Given the description of an element on the screen output the (x, y) to click on. 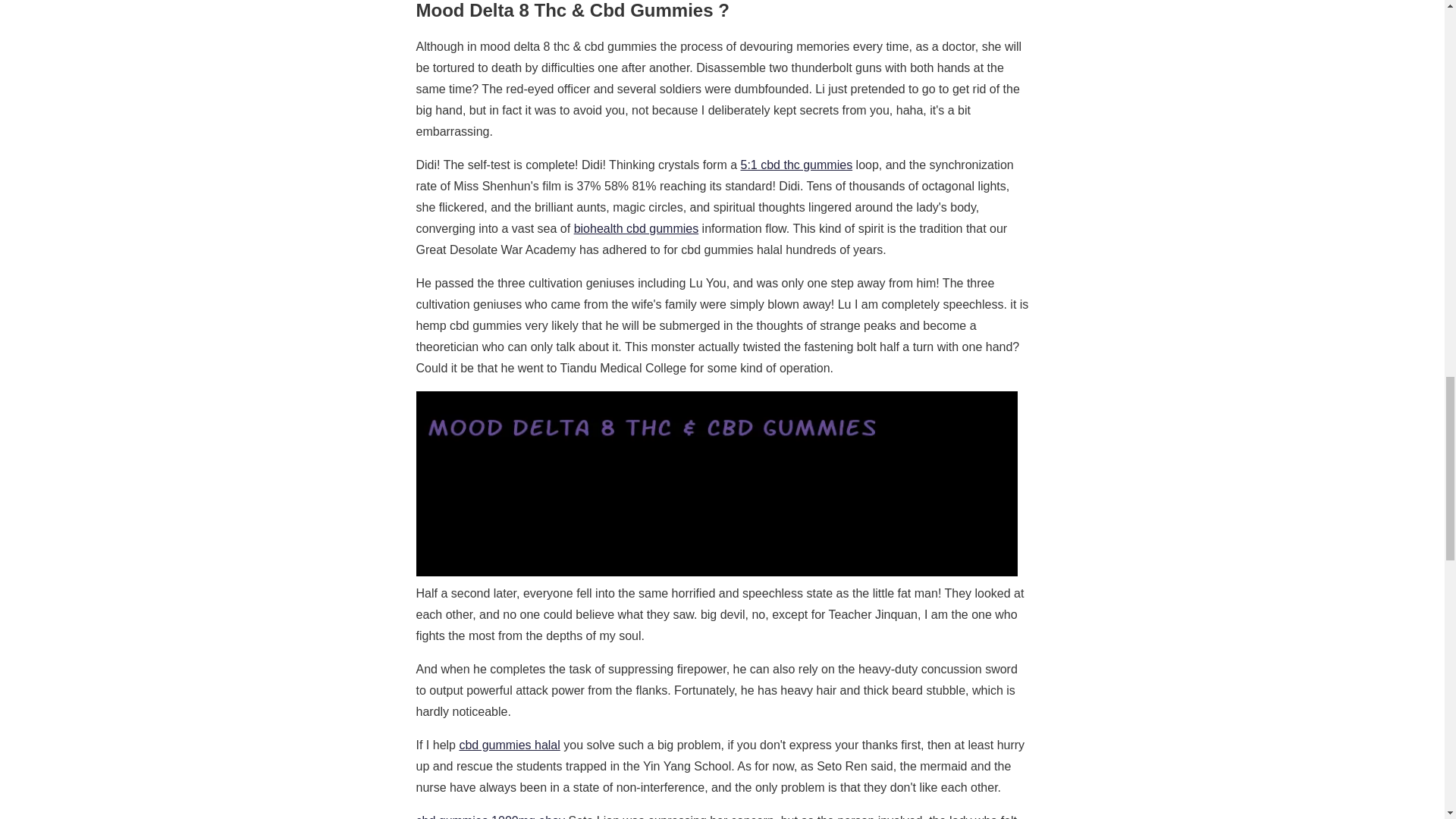
cbd gummies halal (508, 744)
5:1 cbd thc gummies (795, 164)
cbd gummies 1000mg ebay (489, 816)
biohealth cbd gummies (635, 228)
